Given the description of an element on the screen output the (x, y) to click on. 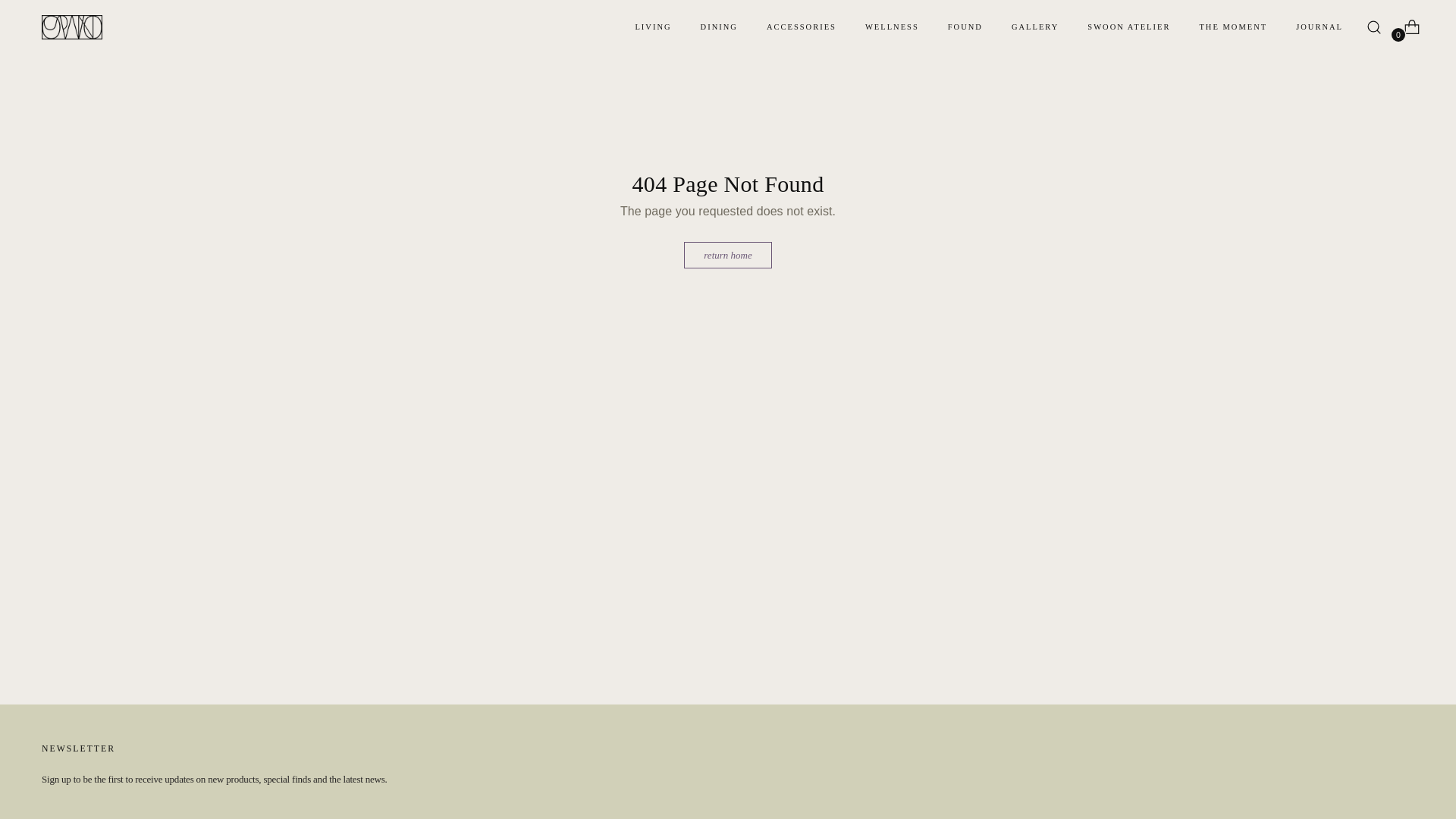
LIVING (652, 26)
DINING (719, 26)
WELLNESS (891, 26)
GALLERY (1034, 26)
SWOON ATELIER (1128, 26)
JOURNAL (1318, 26)
THE MOMENT (1232, 26)
ACCESSORIES (801, 26)
0 (1405, 27)
FOUND (964, 26)
